Given the description of an element on the screen output the (x, y) to click on. 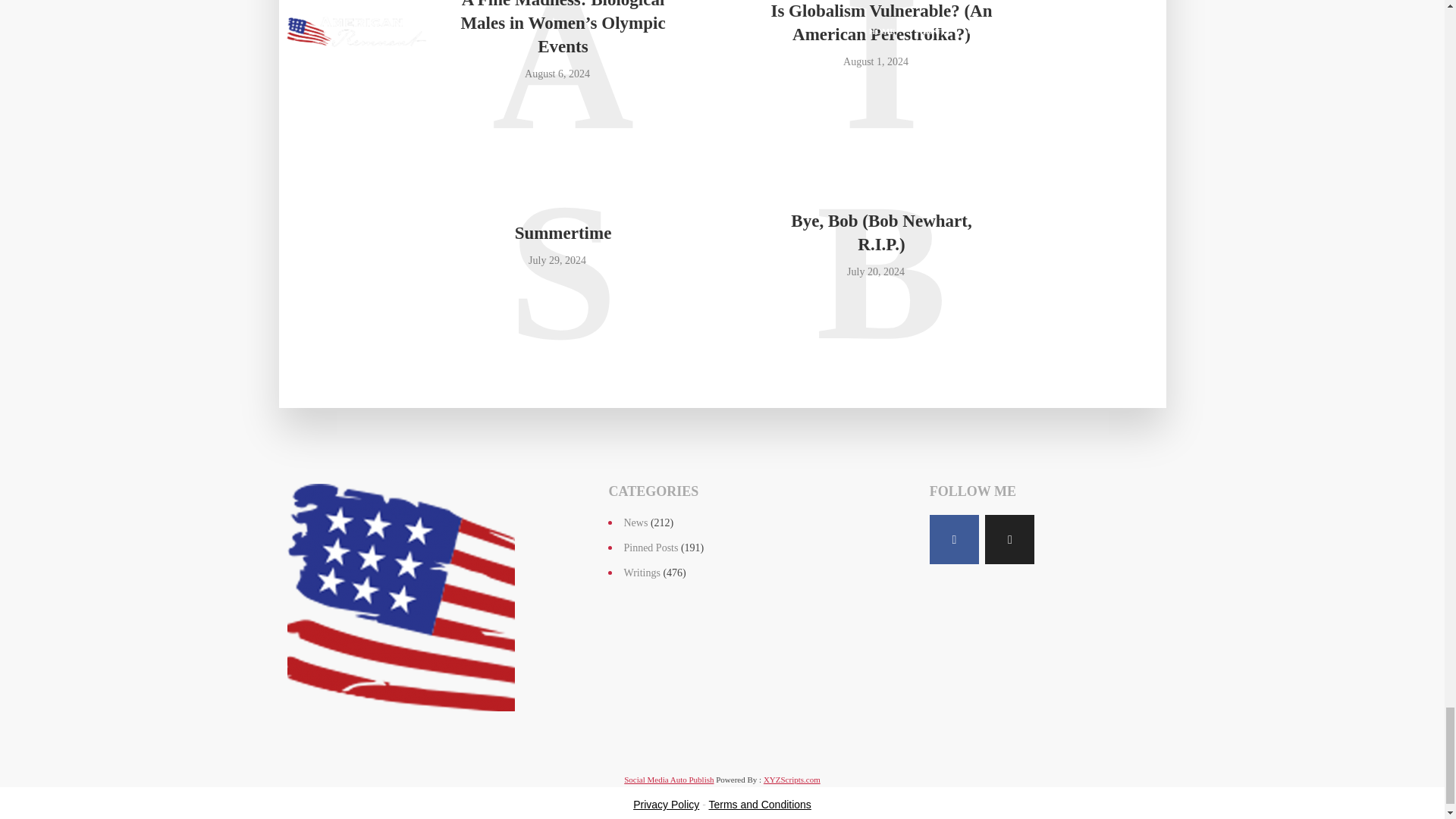
Facebook (954, 539)
Summertime (563, 232)
Social Media Auto Publish (668, 778)
